Given the description of an element on the screen output the (x, y) to click on. 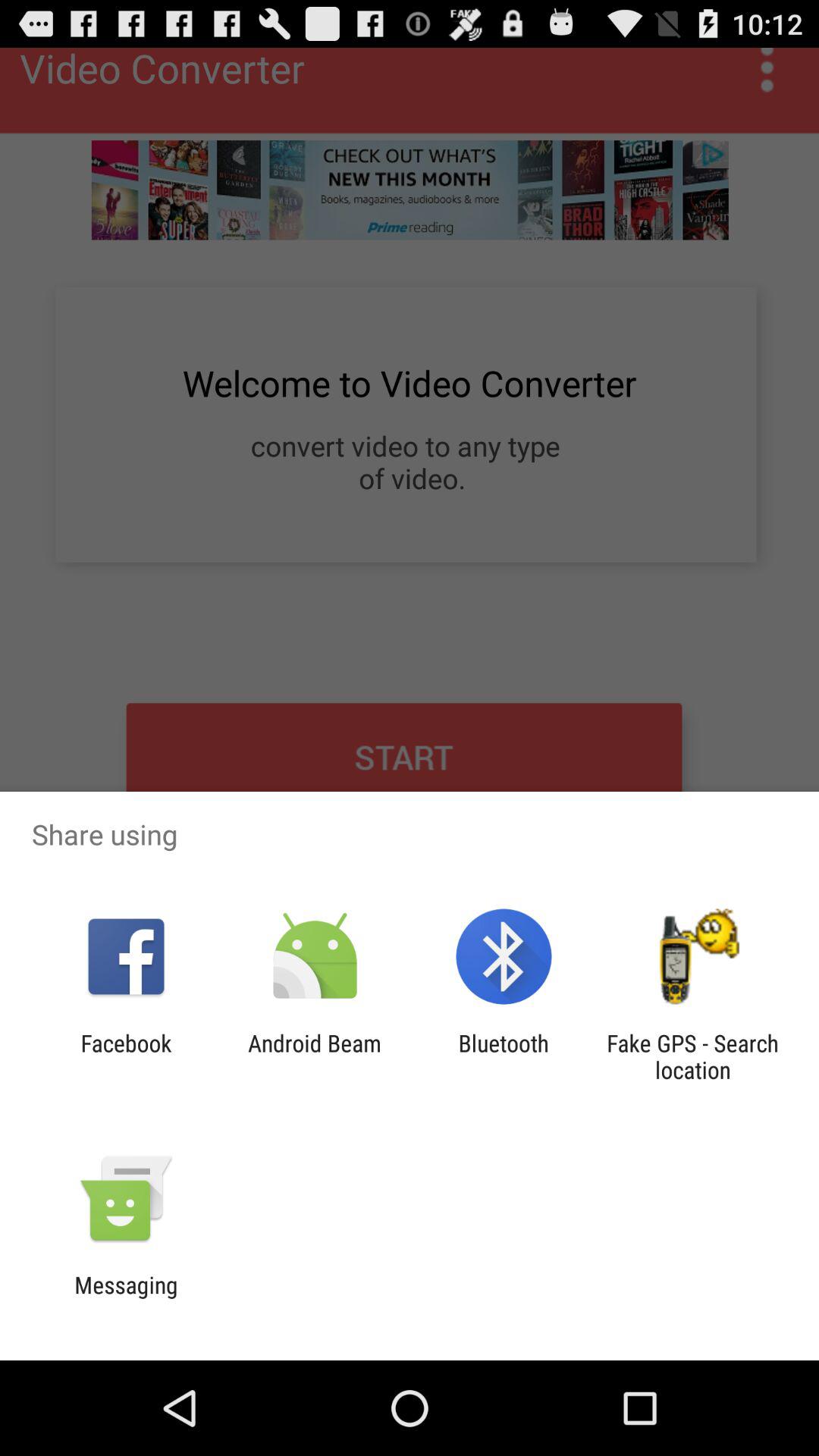
tap icon to the left of the bluetooth item (314, 1056)
